Given the description of an element on the screen output the (x, y) to click on. 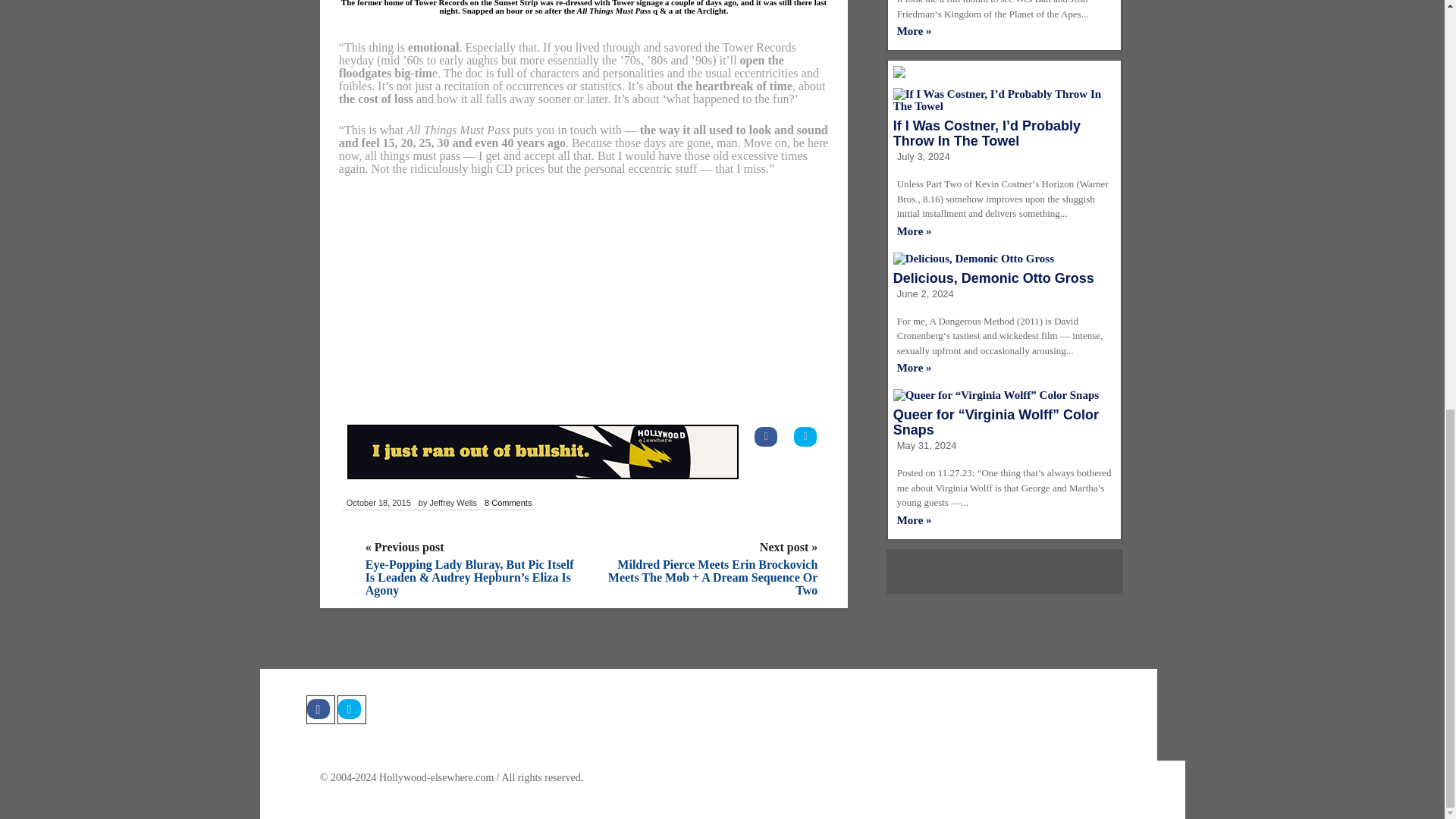
October 18, 2015 (378, 503)
Facebook (319, 709)
8 Comments (507, 503)
Twitter (350, 709)
by Jeffrey Wells (447, 503)
